Given the description of an element on the screen output the (x, y) to click on. 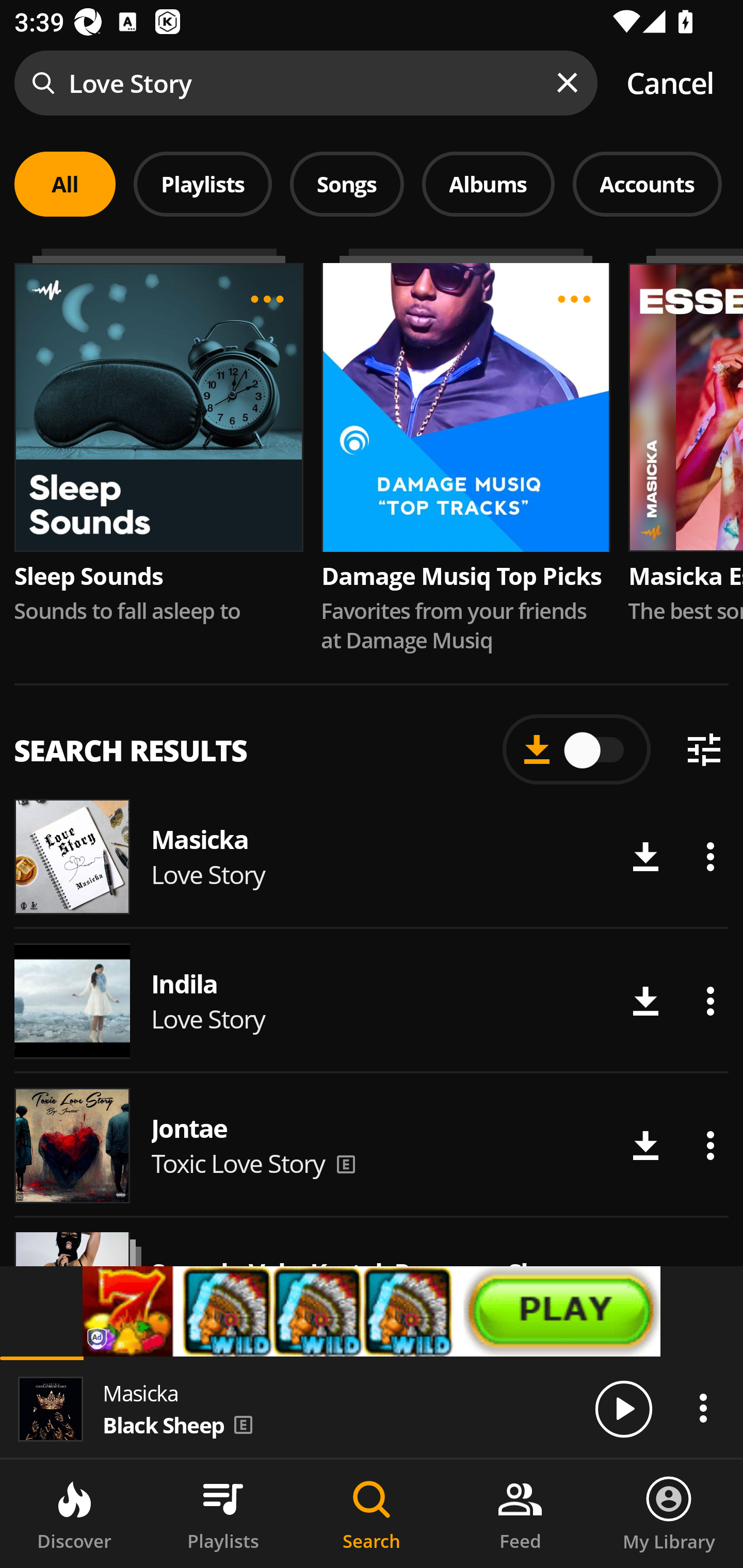
Love Story Cancel (371, 82)
Cancel (670, 82)
All (64, 184)
Playlists (202, 184)
Songs (346, 184)
Albums (488, 184)
Accounts (647, 184)
Song artwork Sleep Sounds Sounds to fall asleep to (158, 437)
Song artwork Masicka Love Story Download Actions (371, 856)
Download (644, 856)
Actions (710, 856)
Song artwork Indila Love Story Download Actions (371, 1001)
Download (644, 1001)
Actions (710, 1001)
Download (644, 1145)
Actions (710, 1145)
fsc (371, 1311)
Liftoff Privacy (97, 1339)
Actions (703, 1407)
Play/Pause (623, 1408)
Discover (74, 1513)
Playlists (222, 1513)
Search (371, 1513)
Feed (519, 1513)
My Library (668, 1513)
